Given the description of an element on the screen output the (x, y) to click on. 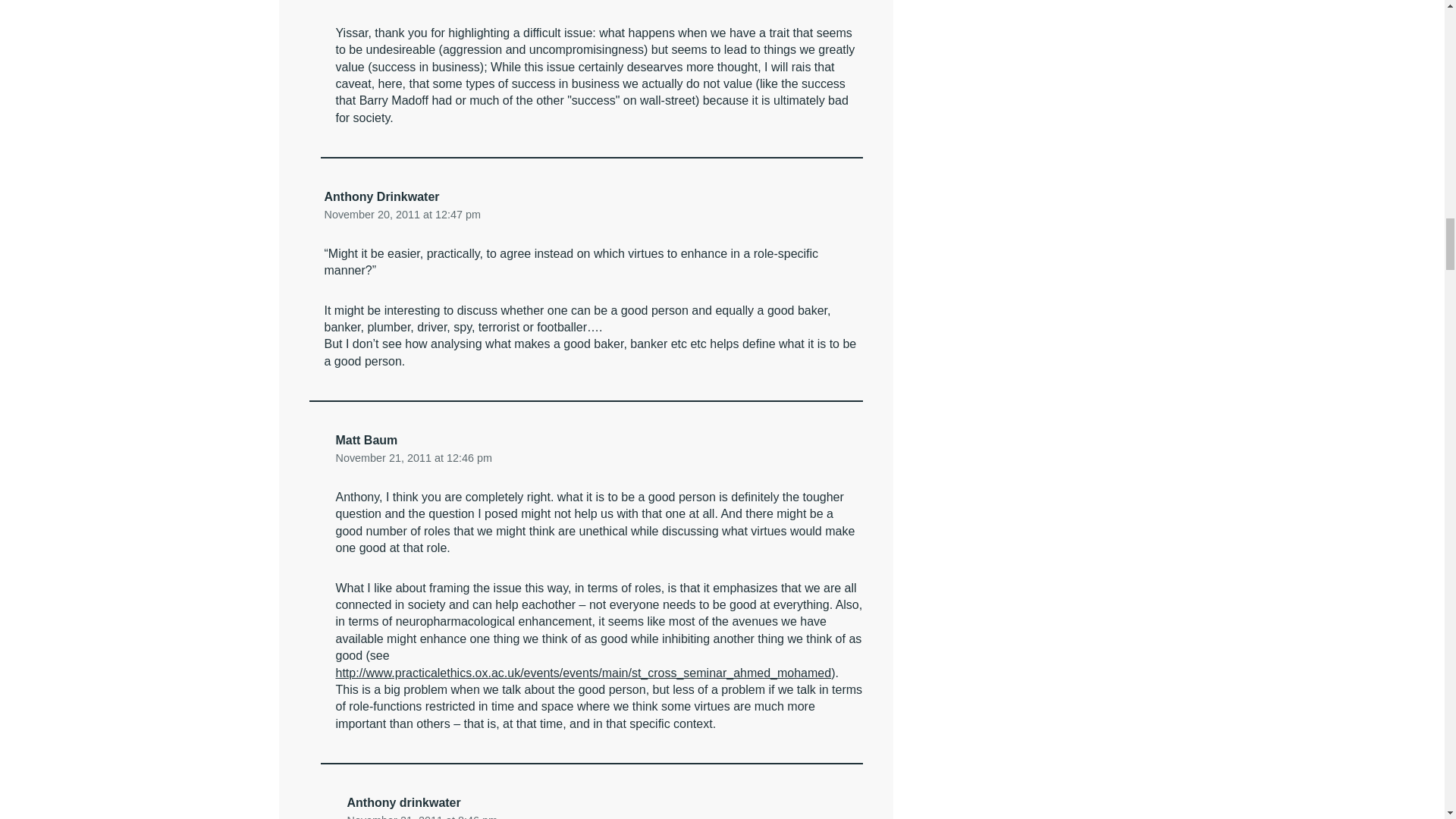
November 20, 2011 at 12:47 pm (402, 214)
November 21, 2011 at 12:46 pm (413, 457)
November 21, 2011 at 8:46 pm (422, 815)
